Given the description of an element on the screen output the (x, y) to click on. 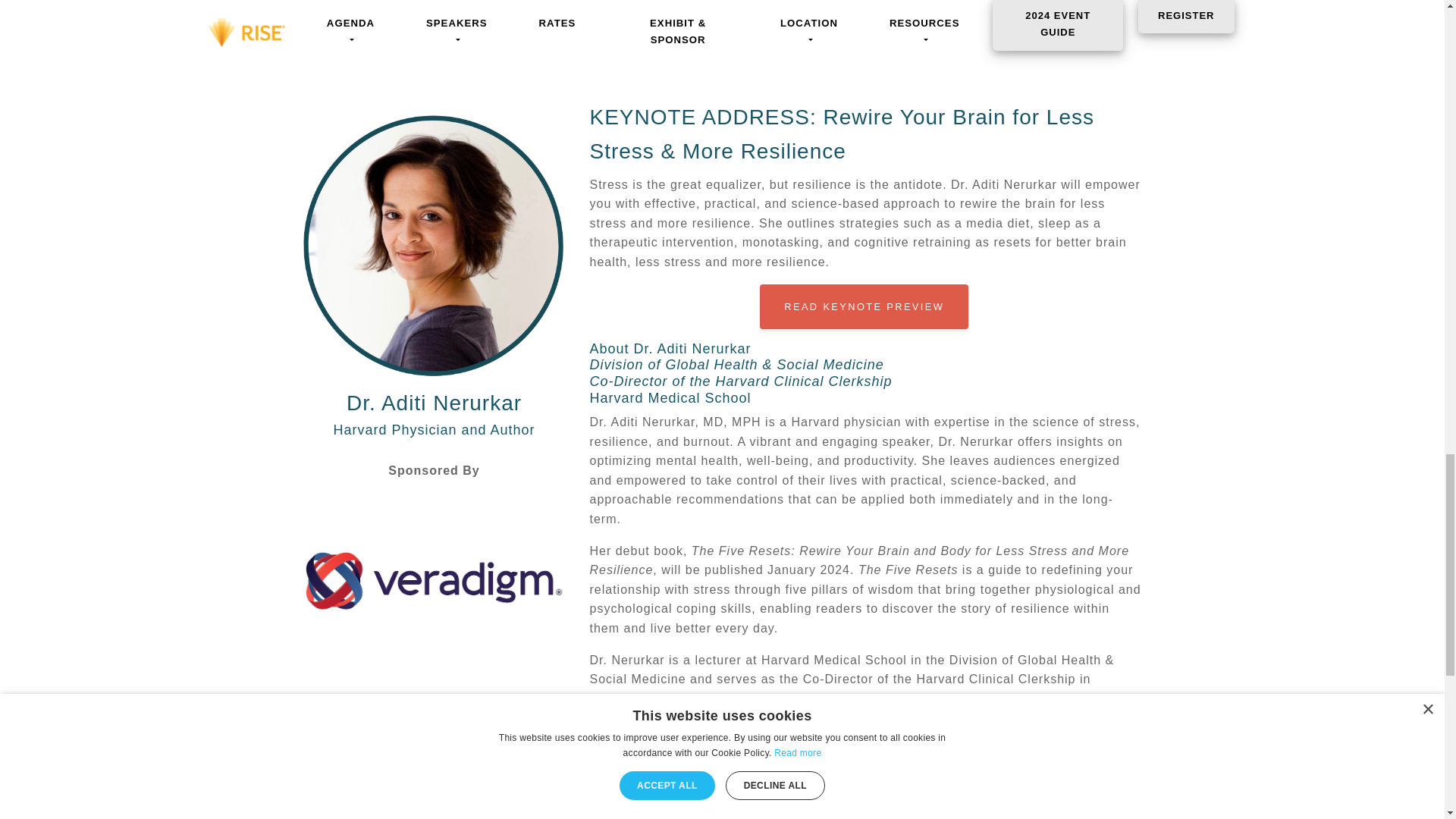
READ KEYNOTE PREVIEW (864, 306)
